Given the description of an element on the screen output the (x, y) to click on. 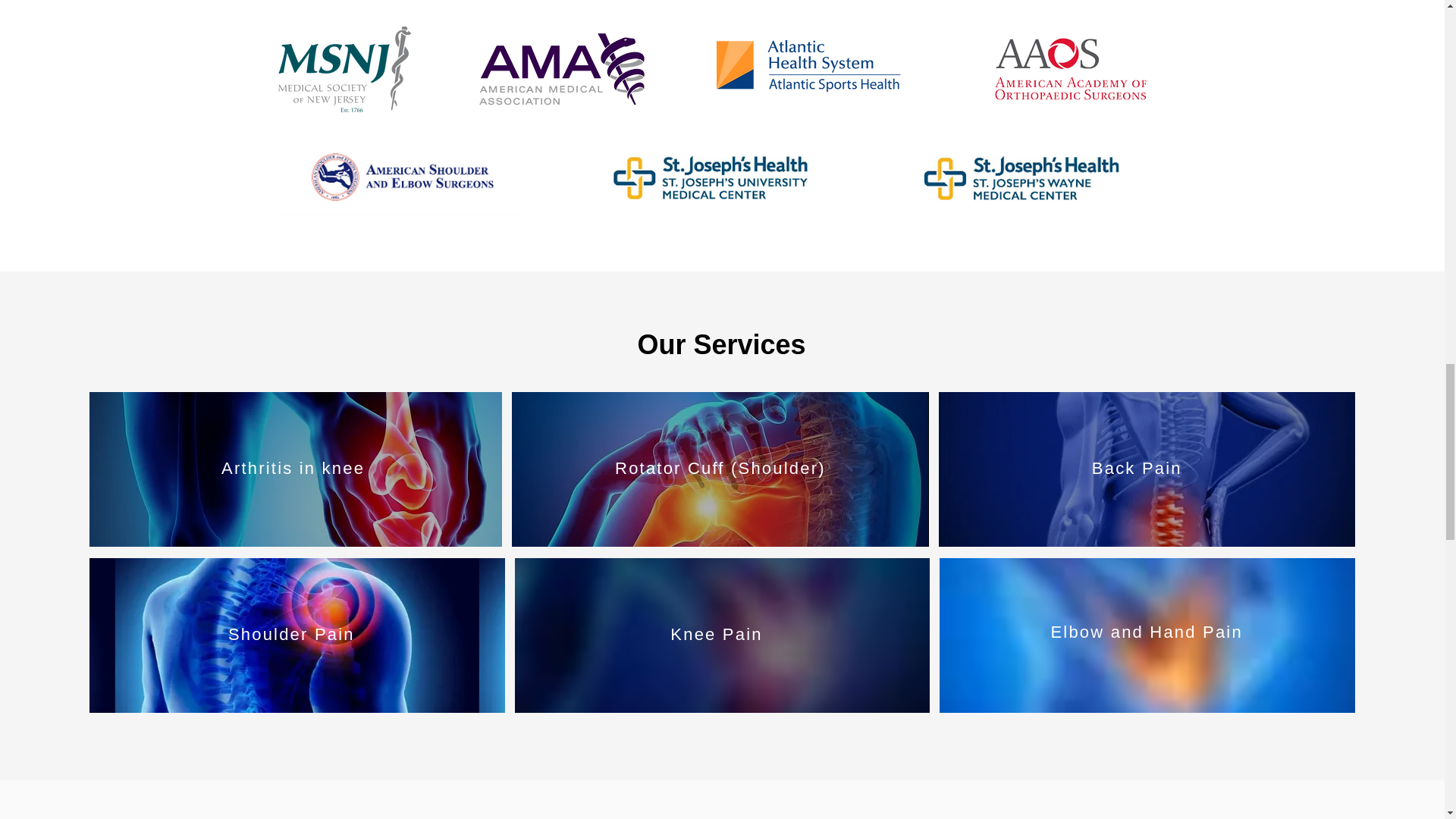
Knee Pain (715, 633)
Arthritis in knee (293, 467)
Elbow and Hand Pain (1145, 631)
Shoulder Pain (291, 633)
Back Pain (1137, 467)
